Given the description of an element on the screen output the (x, y) to click on. 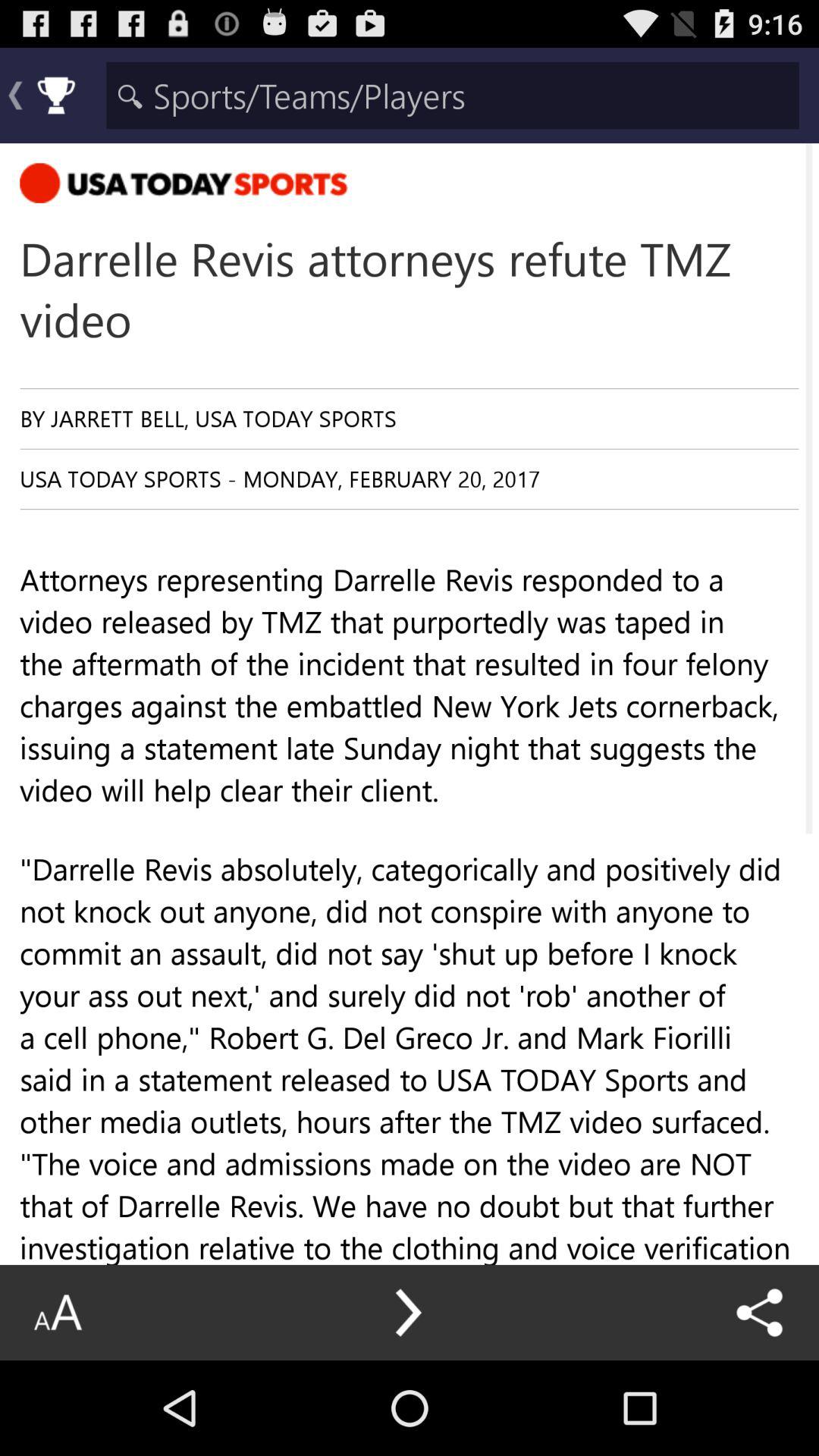
turn off item below the attorneys representing darrelle (408, 1312)
